Given the description of an element on the screen output the (x, y) to click on. 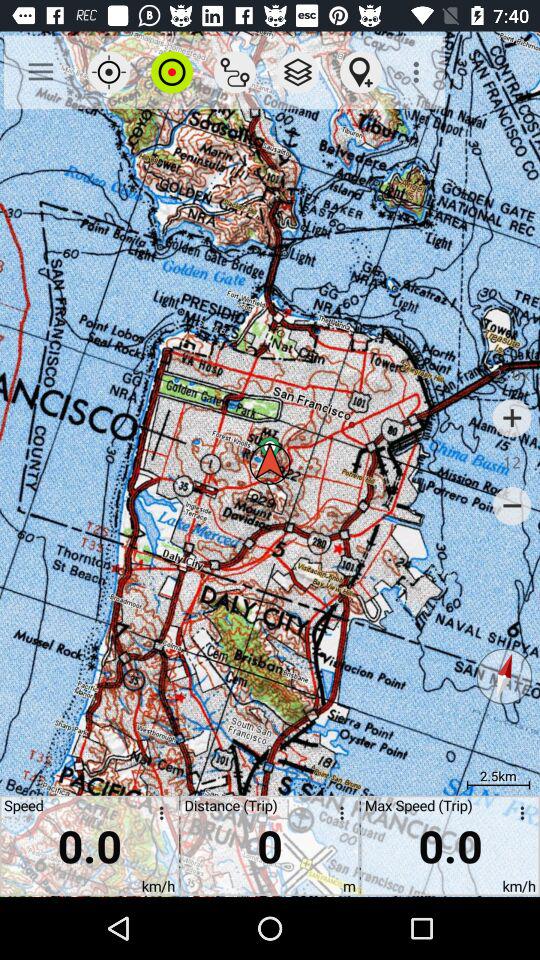
press the item above max speed (trip) item (504, 676)
